Given the description of an element on the screen output the (x, y) to click on. 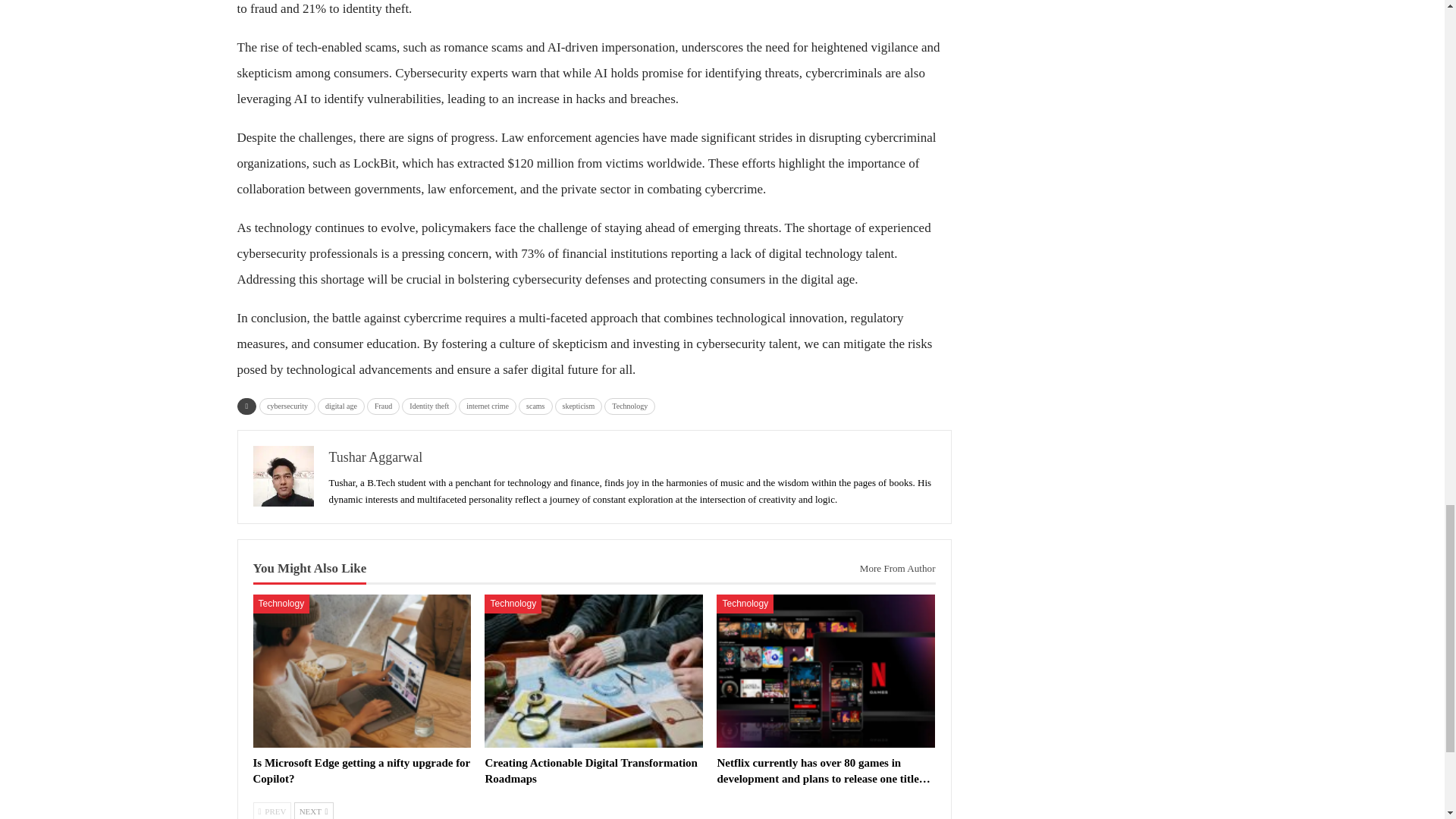
Is Microsoft Edge getting a nifty upgrade for Copilot? (361, 770)
Creating Actionable Digital Transformation Roadmaps (590, 770)
Previous (272, 810)
Next (313, 810)
Is Microsoft Edge getting a nifty upgrade for Copilot? (362, 670)
Creating Actionable Digital Transformation Roadmaps (593, 670)
